Given the description of an element on the screen output the (x, y) to click on. 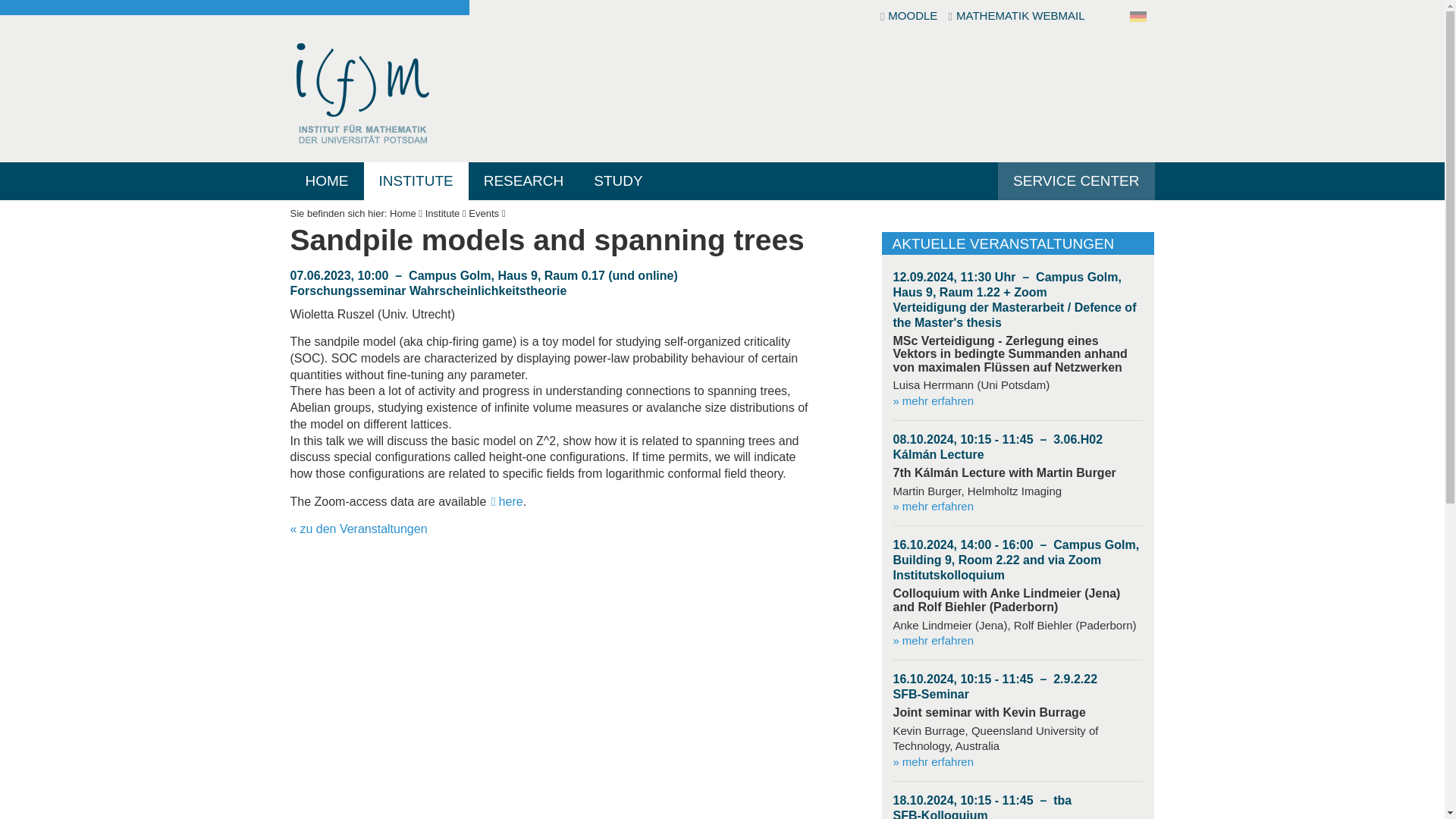
HOME (325, 180)
RESEARCH (523, 180)
MATHEMATIK WEBMAIL (1016, 18)
MOODLE (910, 18)
INSTITUTE (416, 180)
